Given the description of an element on the screen output the (x, y) to click on. 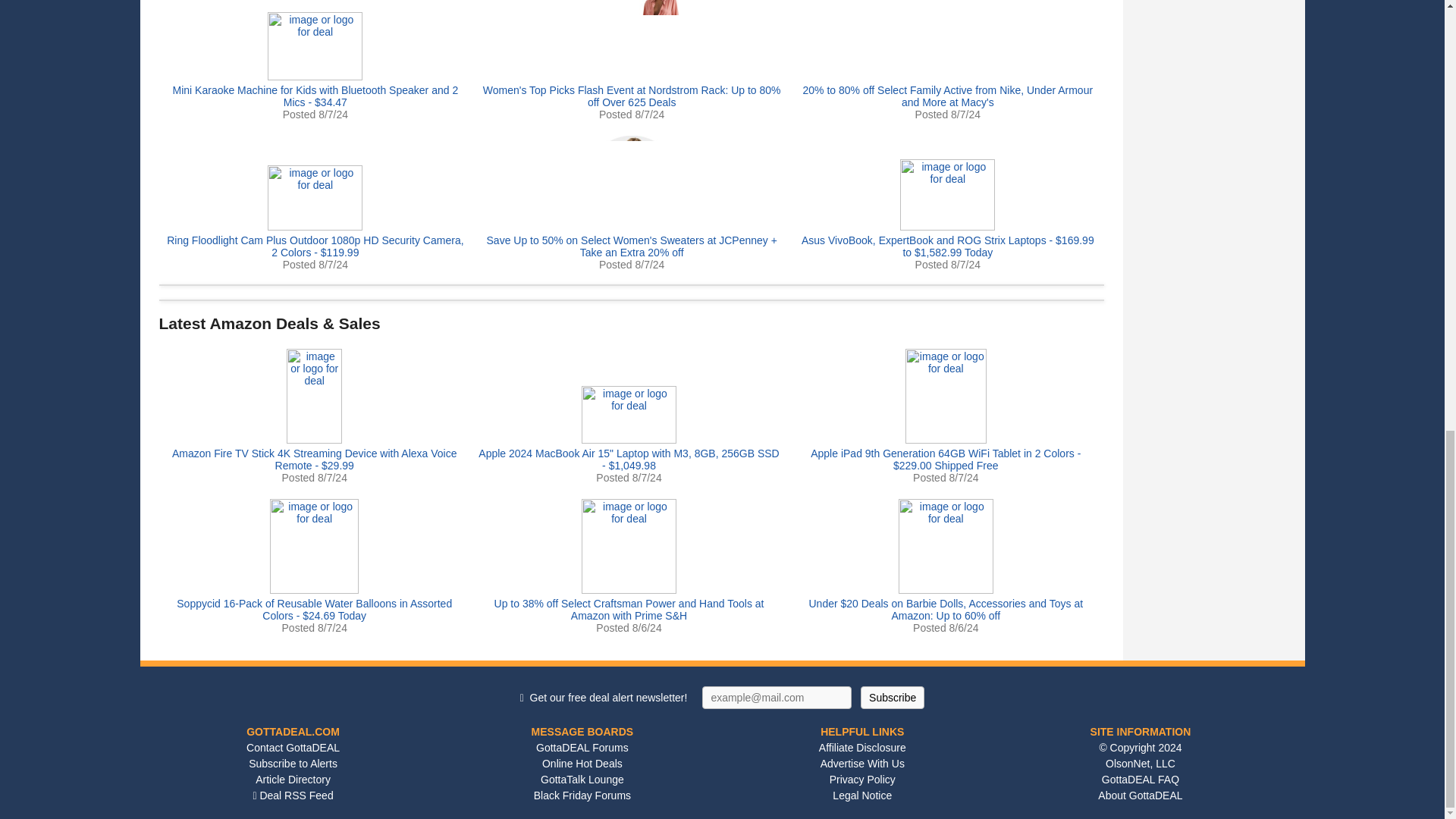
Subscribe (892, 697)
